Given the description of an element on the screen output the (x, y) to click on. 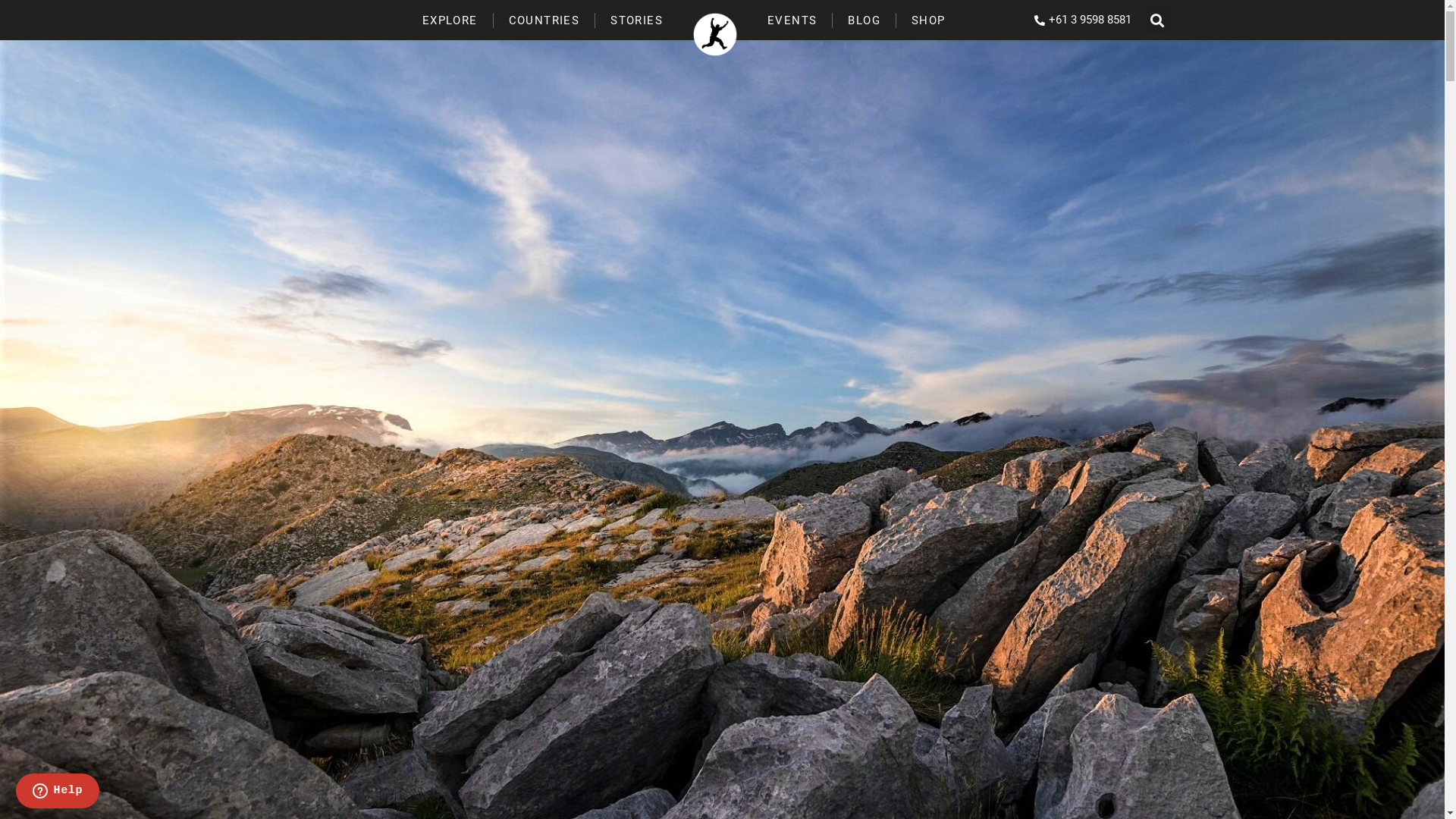
COUNTRIES Element type: text (544, 19)
STORIES Element type: text (636, 19)
BLOG Element type: text (864, 19)
EXPLORE Element type: text (450, 19)
+61 3 9598 8581 Element type: text (1076, 19)
Opens a widget where you can find more information Element type: hover (57, 792)
EVENTS Element type: text (792, 19)
SHOP Element type: text (928, 19)
